Given the description of an element on the screen output the (x, y) to click on. 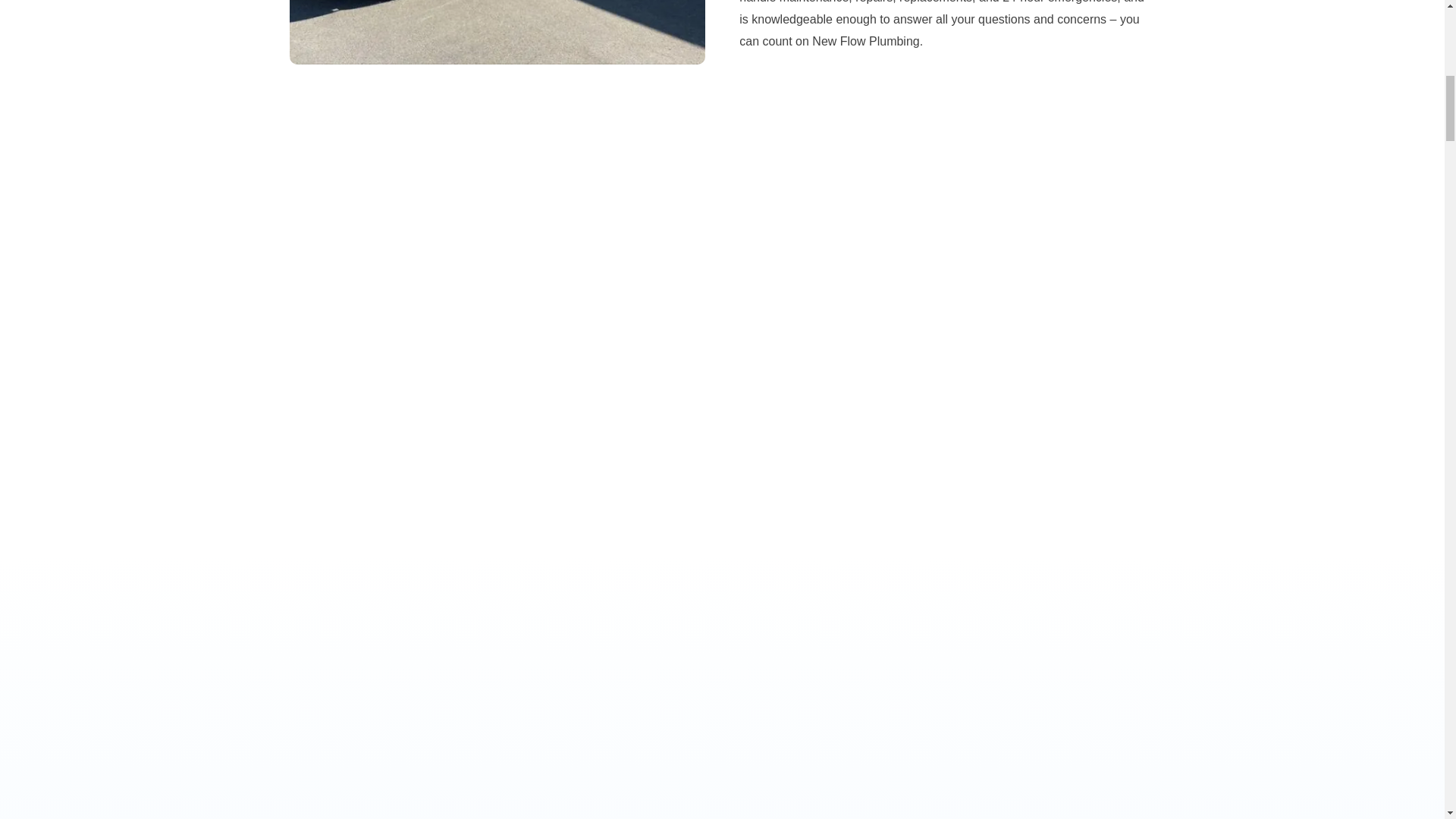
New Flow Plumbing (496, 32)
